Given the description of an element on the screen output the (x, y) to click on. 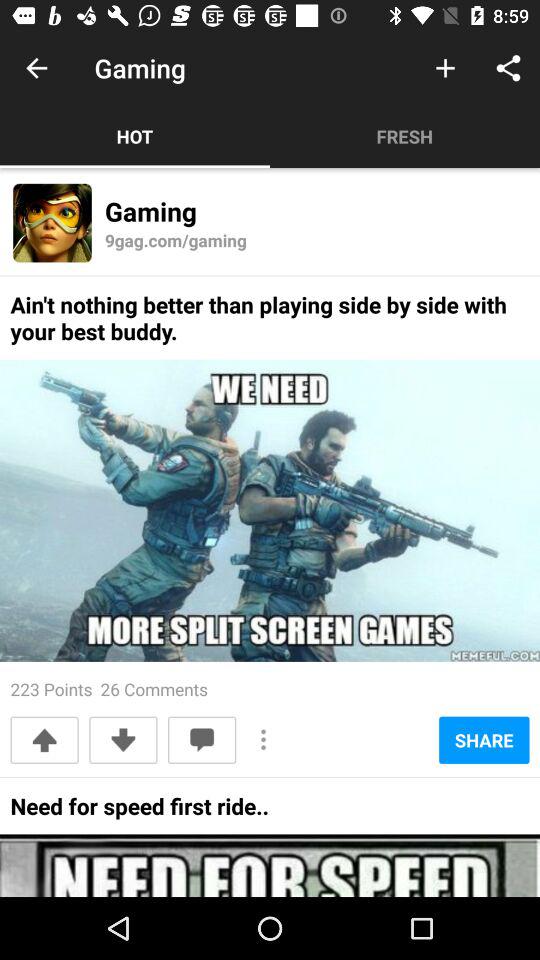
click the ain t nothing item (269, 324)
